Given the description of an element on the screen output the (x, y) to click on. 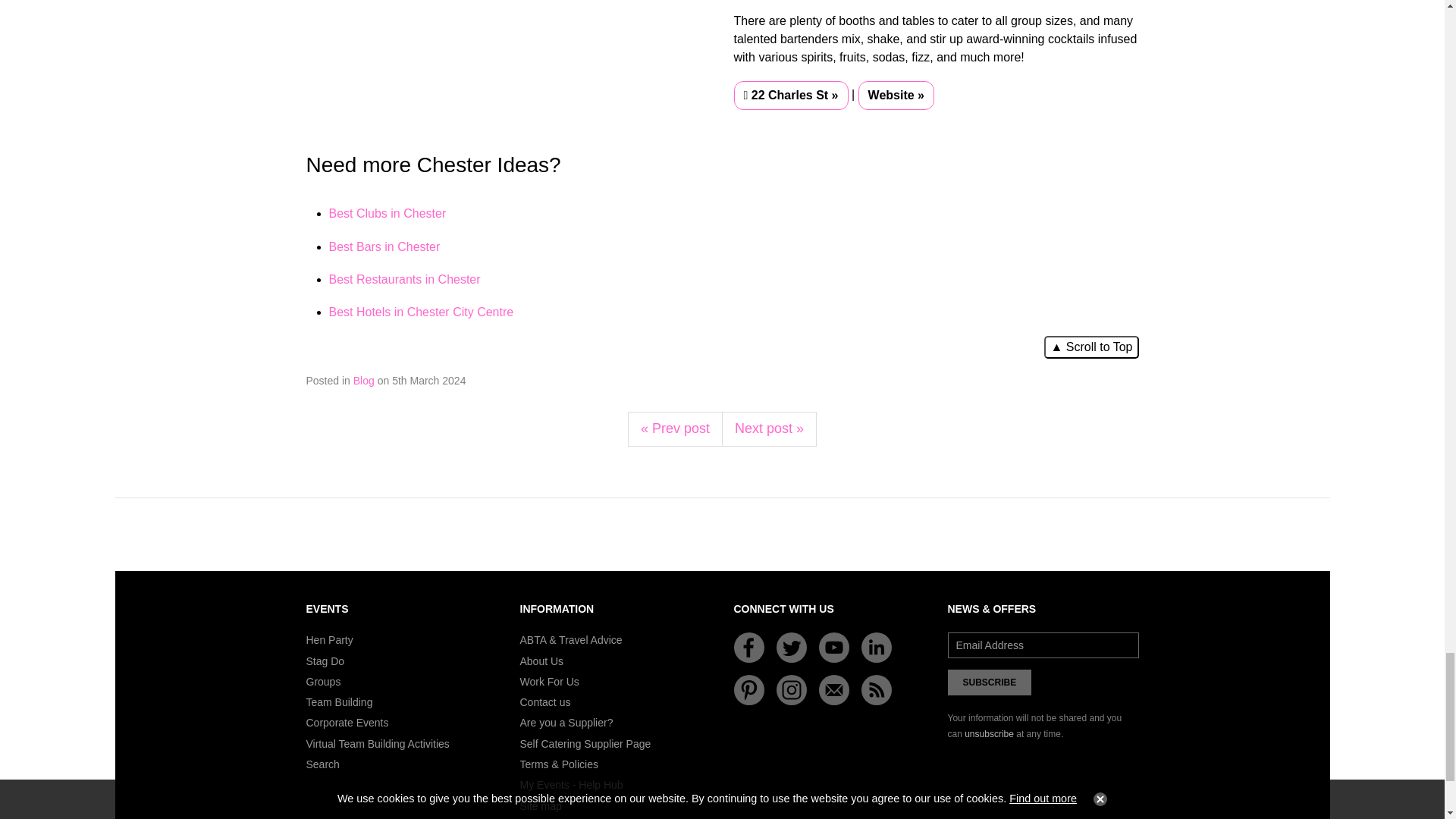
Subscribe (989, 682)
